Given the description of an element on the screen output the (x, y) to click on. 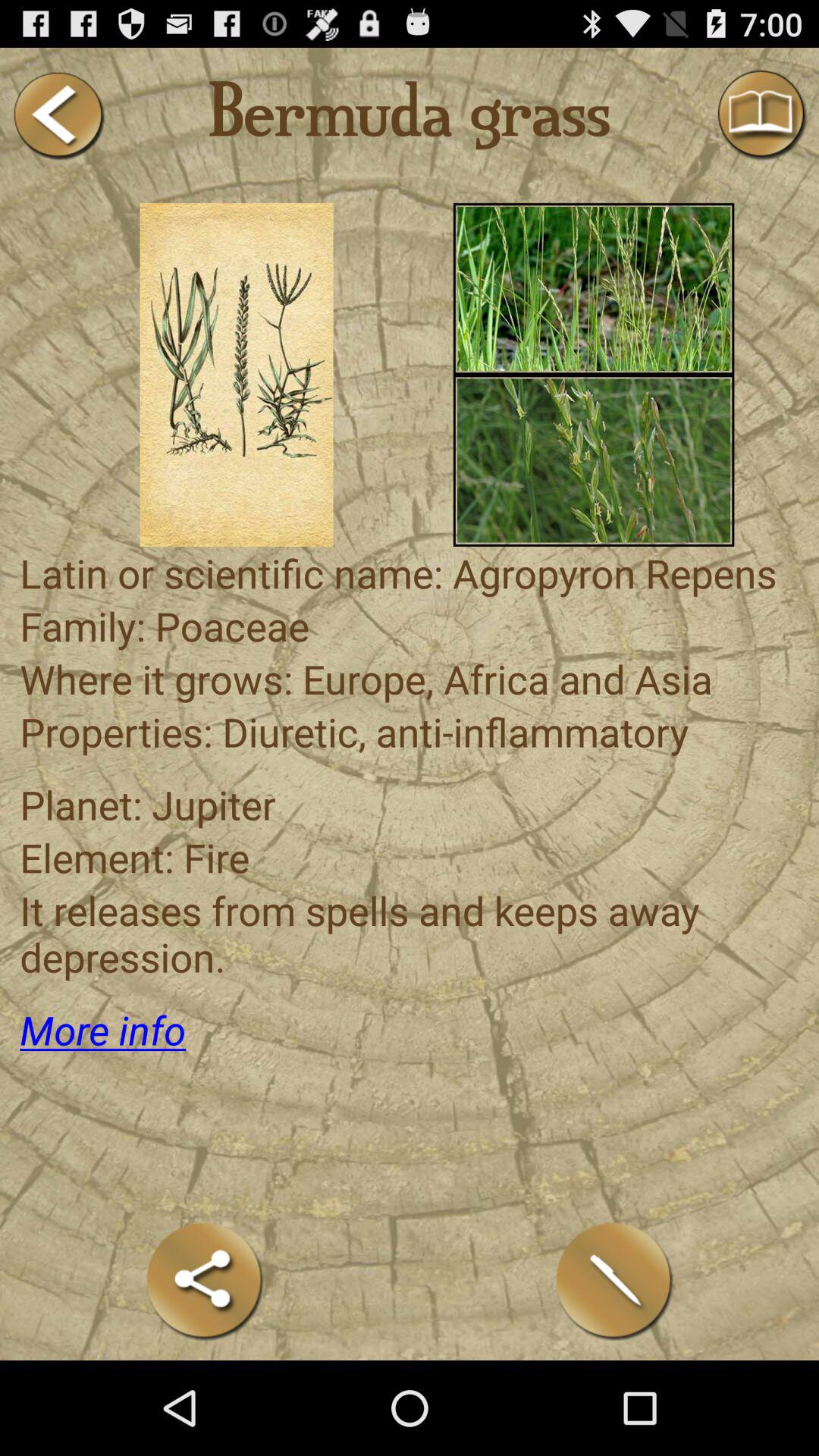
choose edit option (614, 1280)
